Given the description of an element on the screen output the (x, y) to click on. 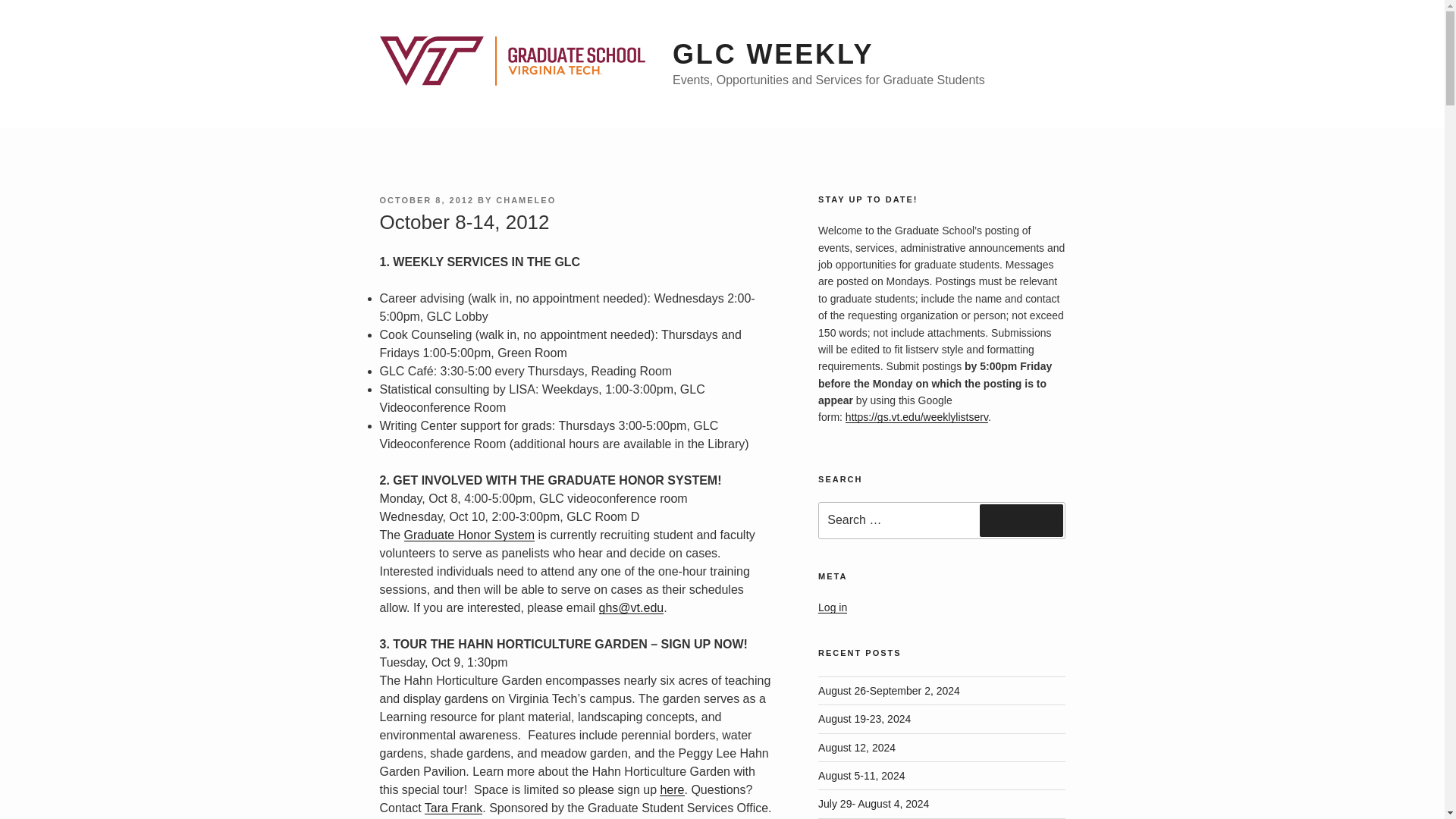
Graduate Honor System (469, 534)
GLC WEEKLY (773, 53)
CHAMELEO (526, 199)
OCTOBER 8, 2012 (426, 199)
here (671, 789)
Tara Frank (453, 807)
